Given the description of an element on the screen output the (x, y) to click on. 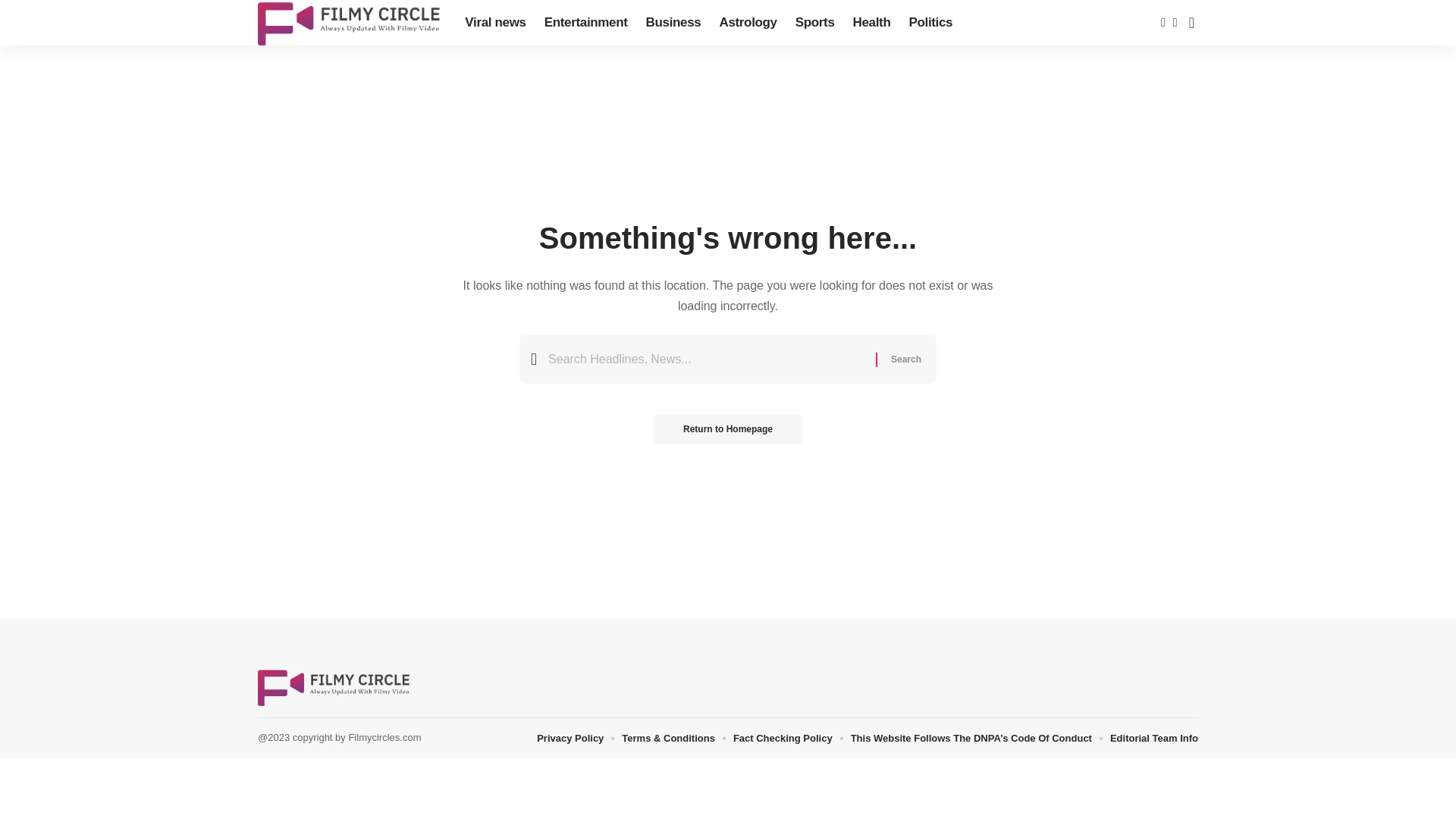
Politics (929, 22)
Health (871, 22)
Editorial Team Info (1153, 737)
Search (906, 359)
FilmyCircles (333, 686)
Business (673, 22)
Return to Homepage (727, 429)
Privacy Policy (570, 737)
Astrology (748, 22)
